Given the description of an element on the screen output the (x, y) to click on. 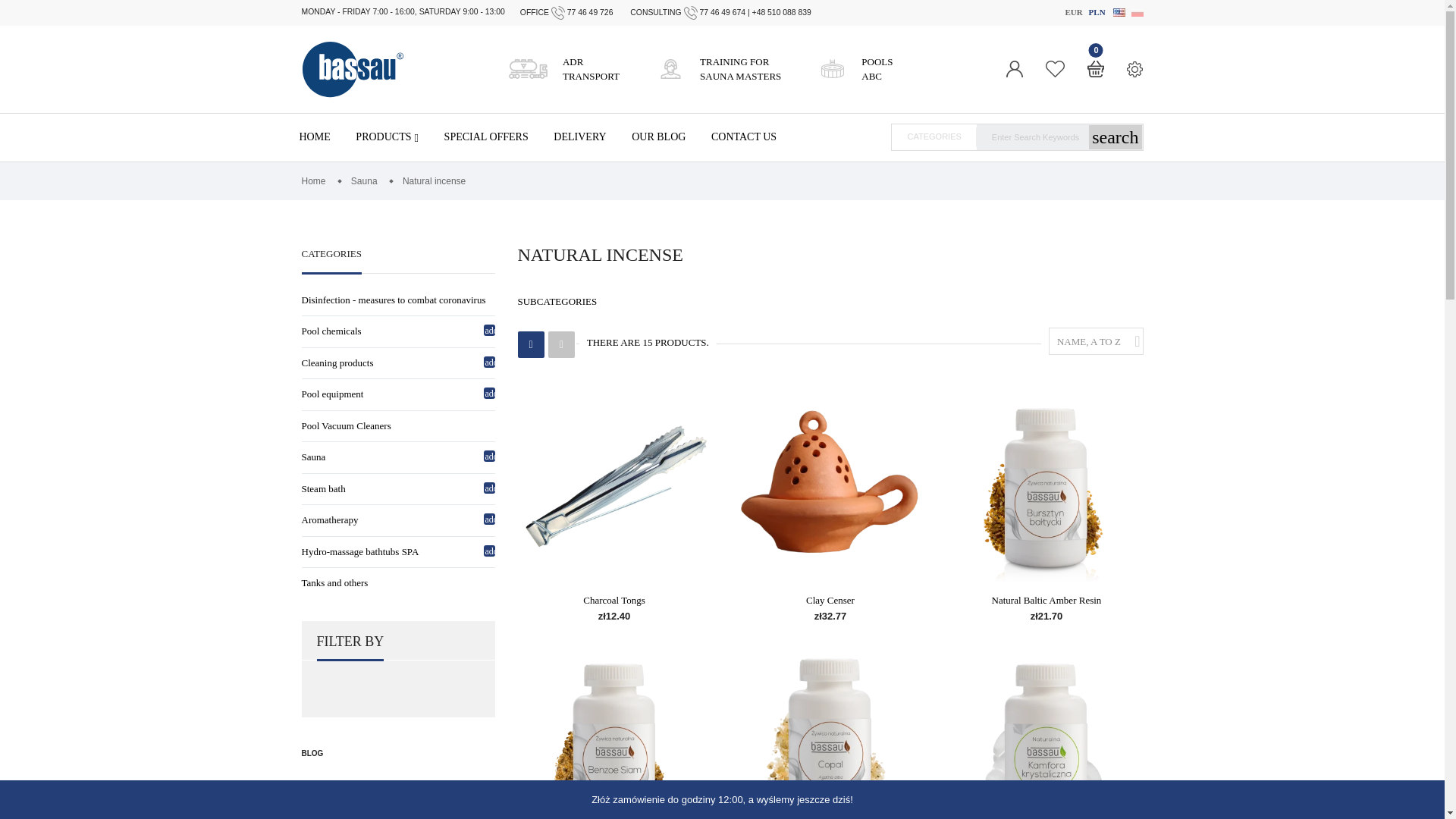
PLN (732, 69)
EUR (1097, 11)
Euro (1072, 11)
CATEGORIES (1072, 11)
CONTACT US (331, 260)
Special Offers (868, 69)
Sauna (743, 136)
SPECIAL OFFERS (486, 136)
